Given the description of an element on the screen output the (x, y) to click on. 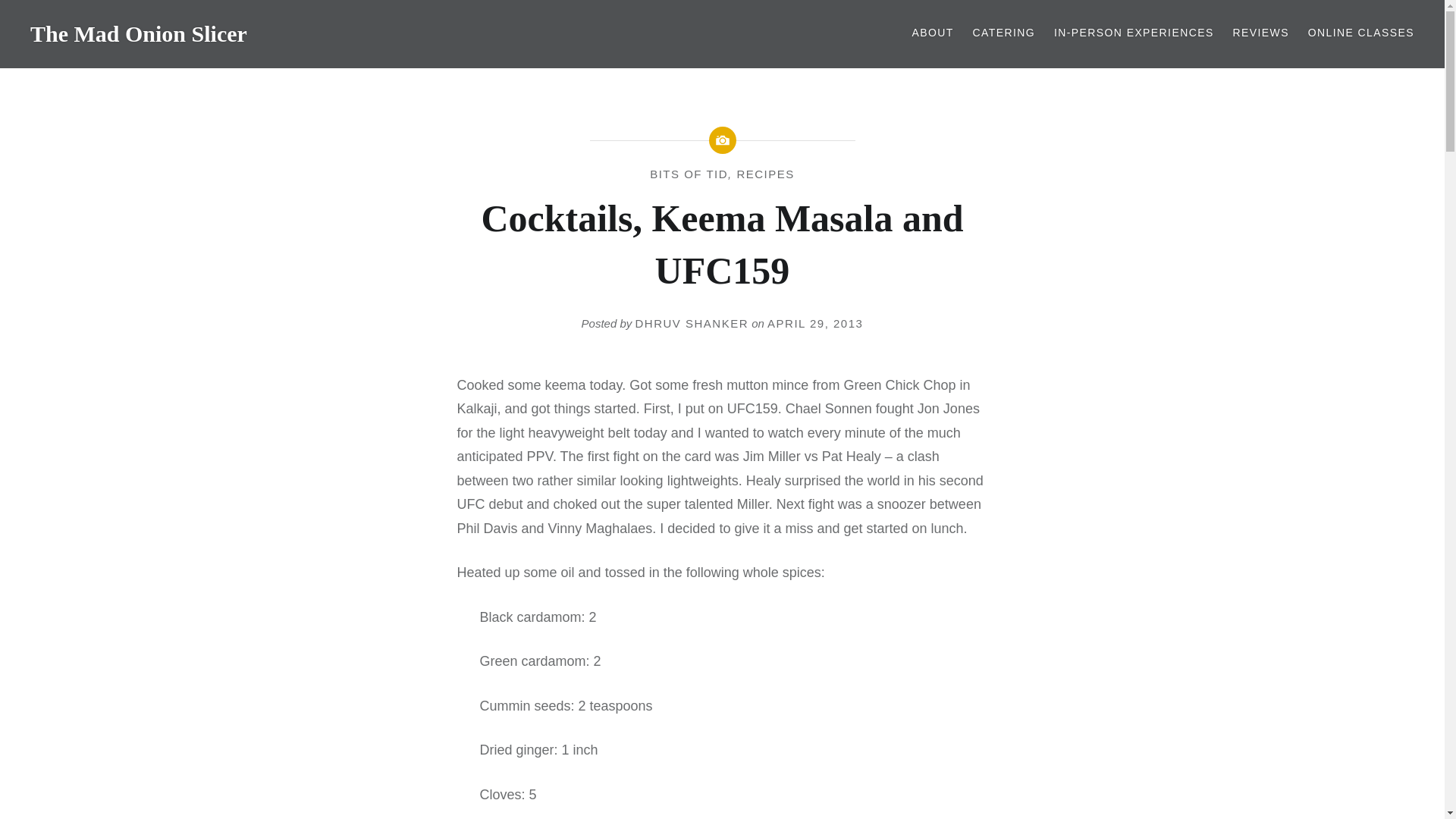
APRIL 29, 2013 (815, 323)
Search (578, 19)
ABOUT (932, 32)
CATERING (1003, 32)
BITS OF TID (688, 173)
DHRUV SHANKER (691, 323)
RECIPES (764, 173)
IN-PERSON EXPERIENCES (1134, 32)
The Mad Onion Slicer (138, 33)
ONLINE CLASSES (1360, 32)
